Given the description of an element on the screen output the (x, y) to click on. 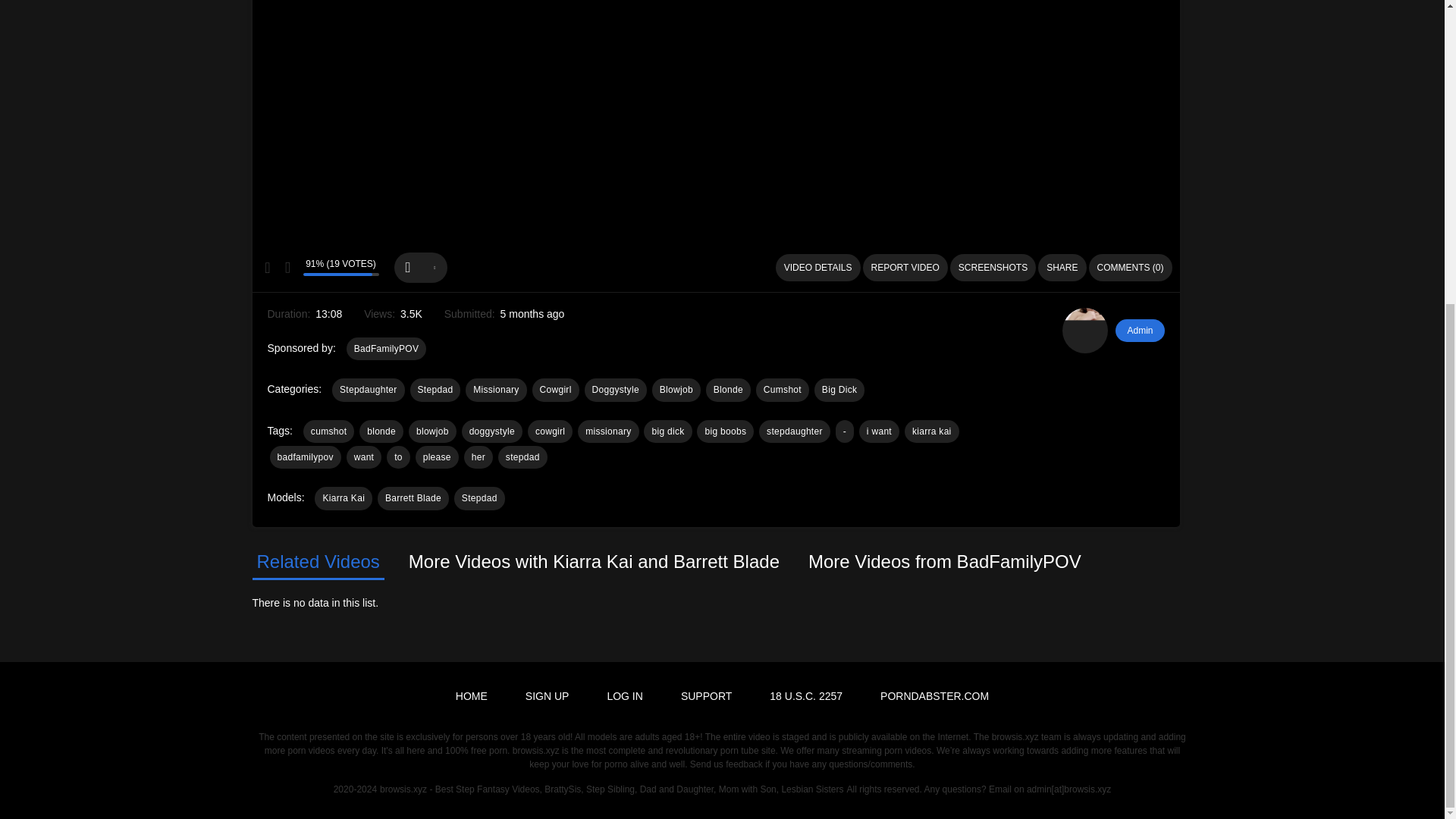
Stepdaughter (367, 389)
Stepdad (435, 389)
Admin (1085, 329)
Add to Favorites (420, 267)
Missionary (495, 389)
I don't like this video (287, 267)
I like this video (267, 267)
BadFamilyPOV (386, 348)
VIDEO DETAILS (818, 267)
REPORT VIDEO (905, 267)
SCREENSHOTS (992, 267)
SHARE (1062, 267)
Admin (1139, 330)
Cowgirl (555, 389)
I don't like this video (287, 267)
